Given the description of an element on the screen output the (x, y) to click on. 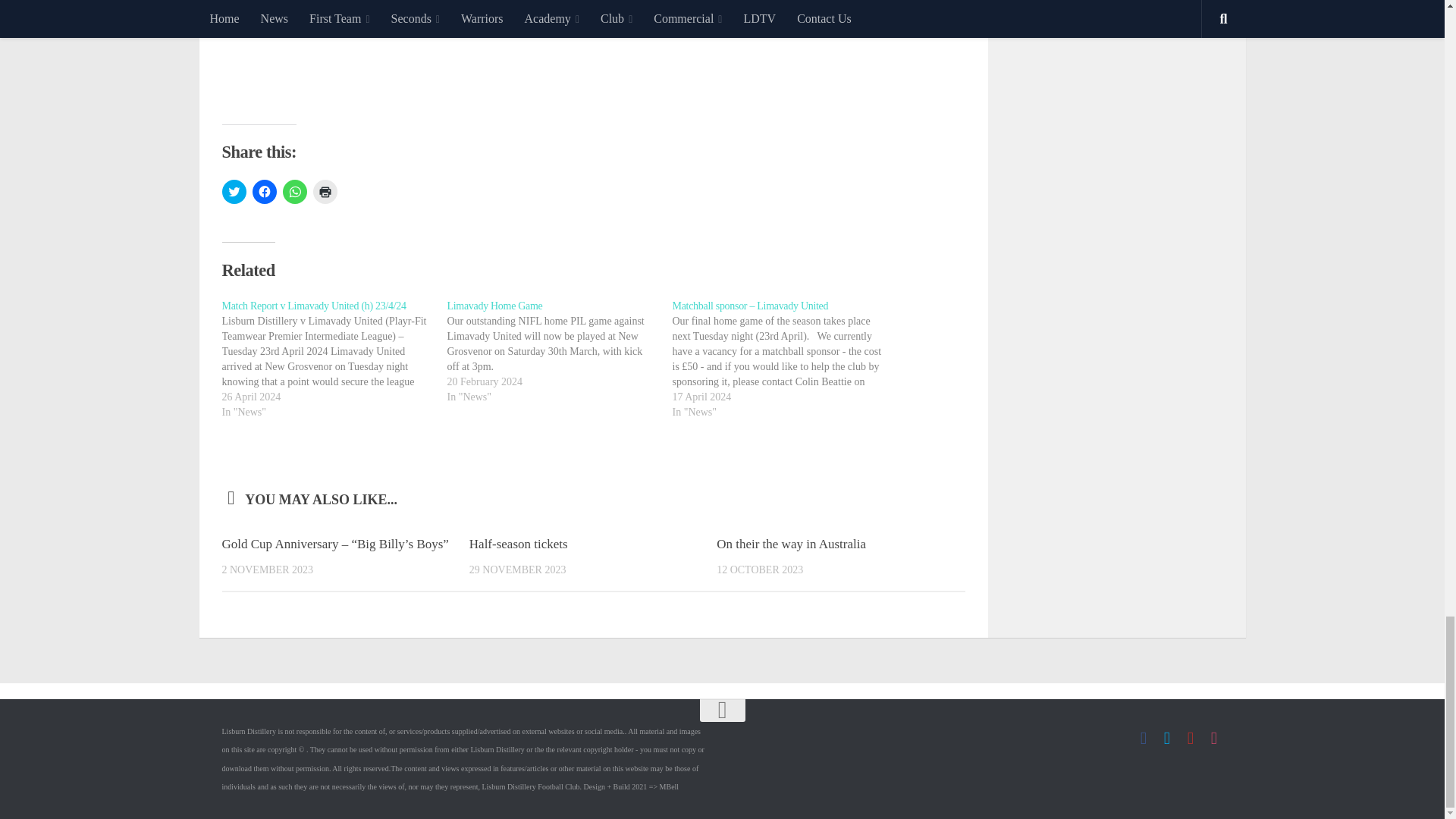
Click to share on Twitter (233, 191)
Limavady Home Game (494, 306)
Limavady Home Game (559, 351)
Click to print (324, 191)
Click to share on WhatsApp (293, 191)
Click to share on Facebook (263, 191)
